Given the description of an element on the screen output the (x, y) to click on. 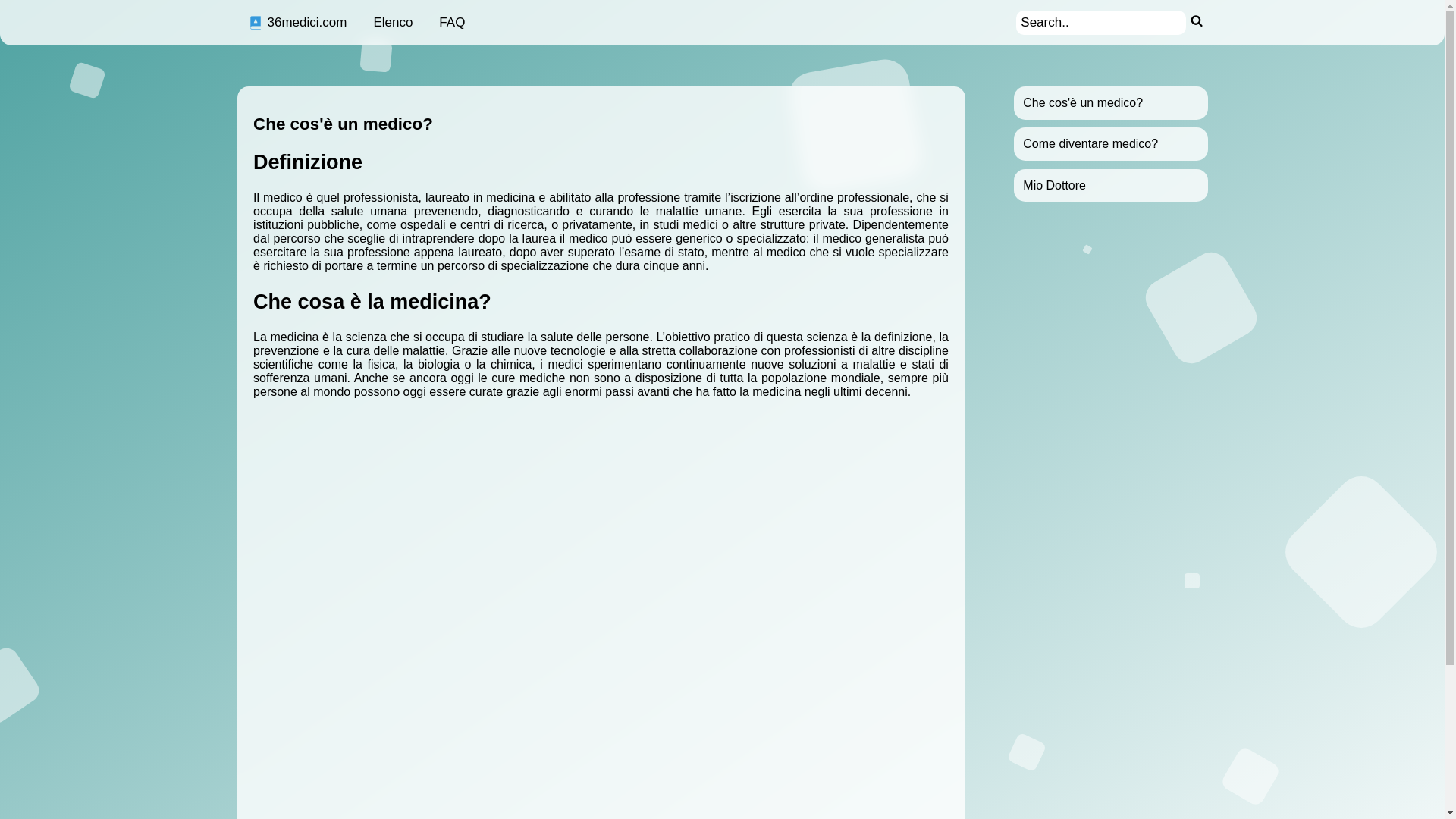
Come diventare medico? Element type: text (1089, 143)
FAQ Element type: text (451, 22)
Mio Dottore Element type: text (1053, 184)
36medici.com Element type: text (296, 22)
Elenco Element type: text (392, 22)
